Given the description of an element on the screen output the (x, y) to click on. 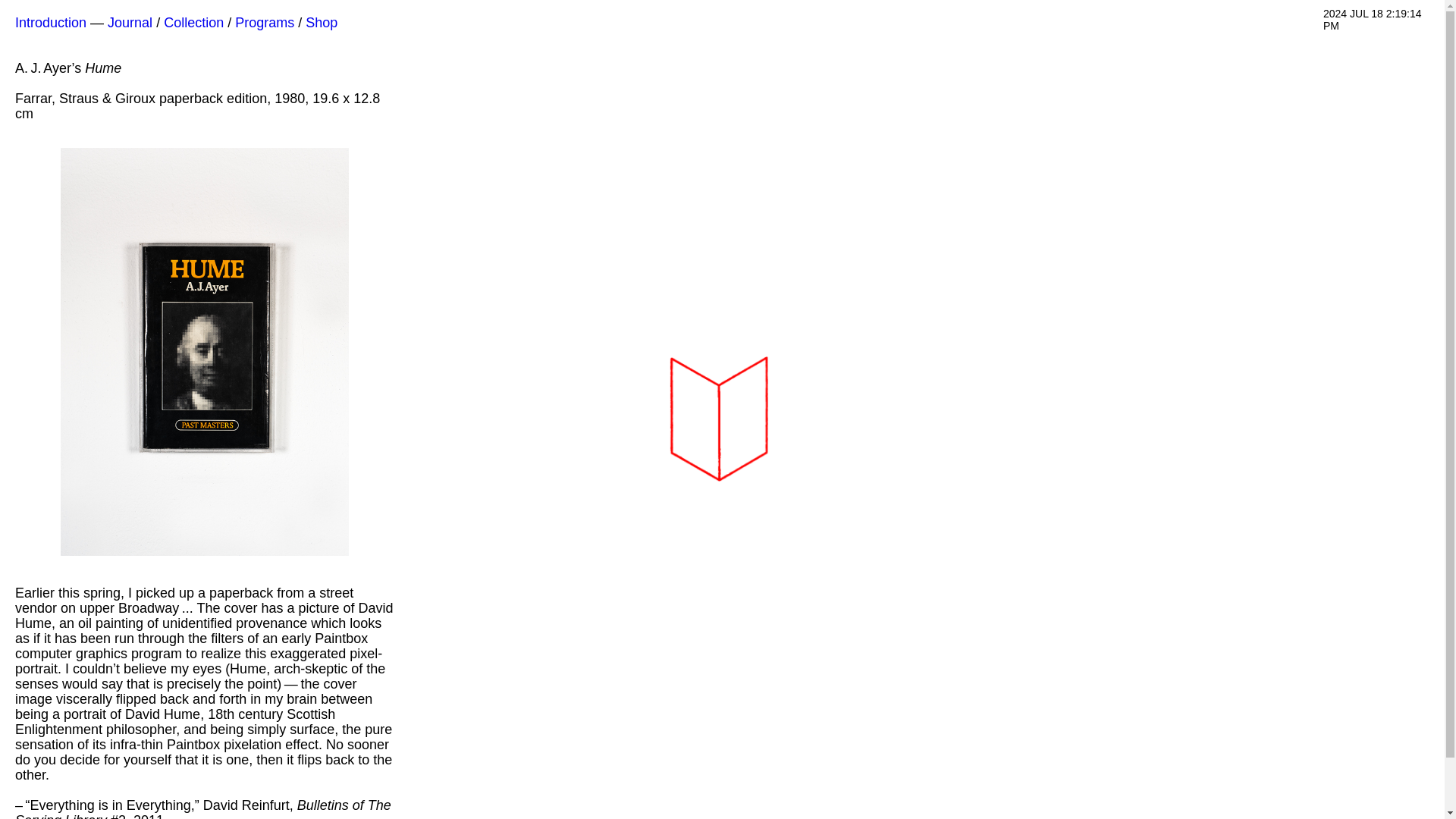
Journal (129, 22)
Shop (321, 22)
Introduction (49, 22)
Programs (264, 22)
Collection (193, 22)
